Given the description of an element on the screen output the (x, y) to click on. 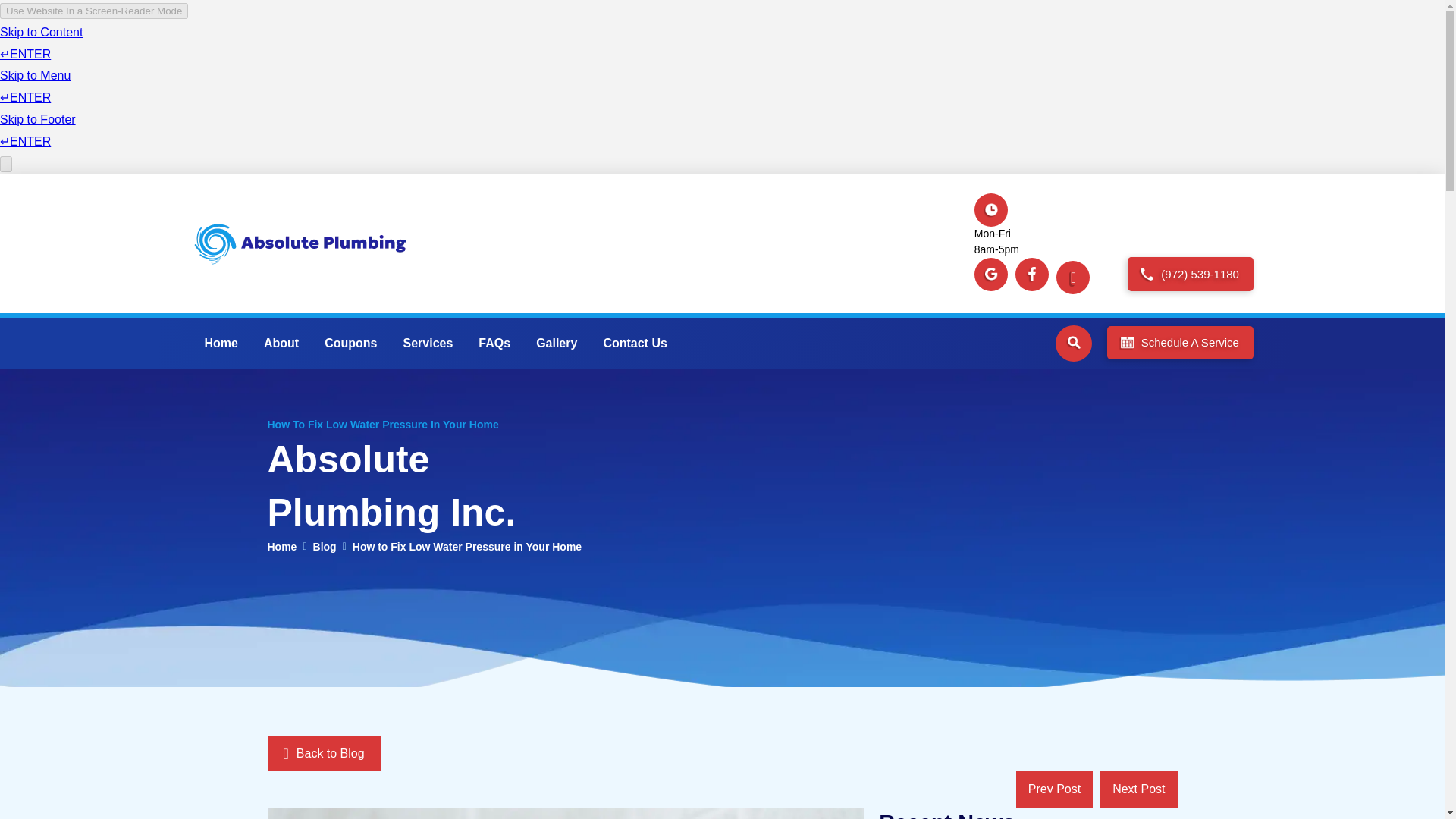
Next Post (1138, 789)
Contact Us (634, 343)
Coupons (350, 343)
Back to Blog (323, 753)
Blog (324, 546)
Schedule A Service (1179, 342)
Prev Post (1054, 789)
About (280, 343)
Home (281, 546)
FAQs (493, 343)
How to Fix Low Water Pressure in Your Home (466, 546)
Services (427, 343)
Home (220, 343)
Gallery (555, 343)
You Are Here (466, 546)
